Given the description of an element on the screen output the (x, y) to click on. 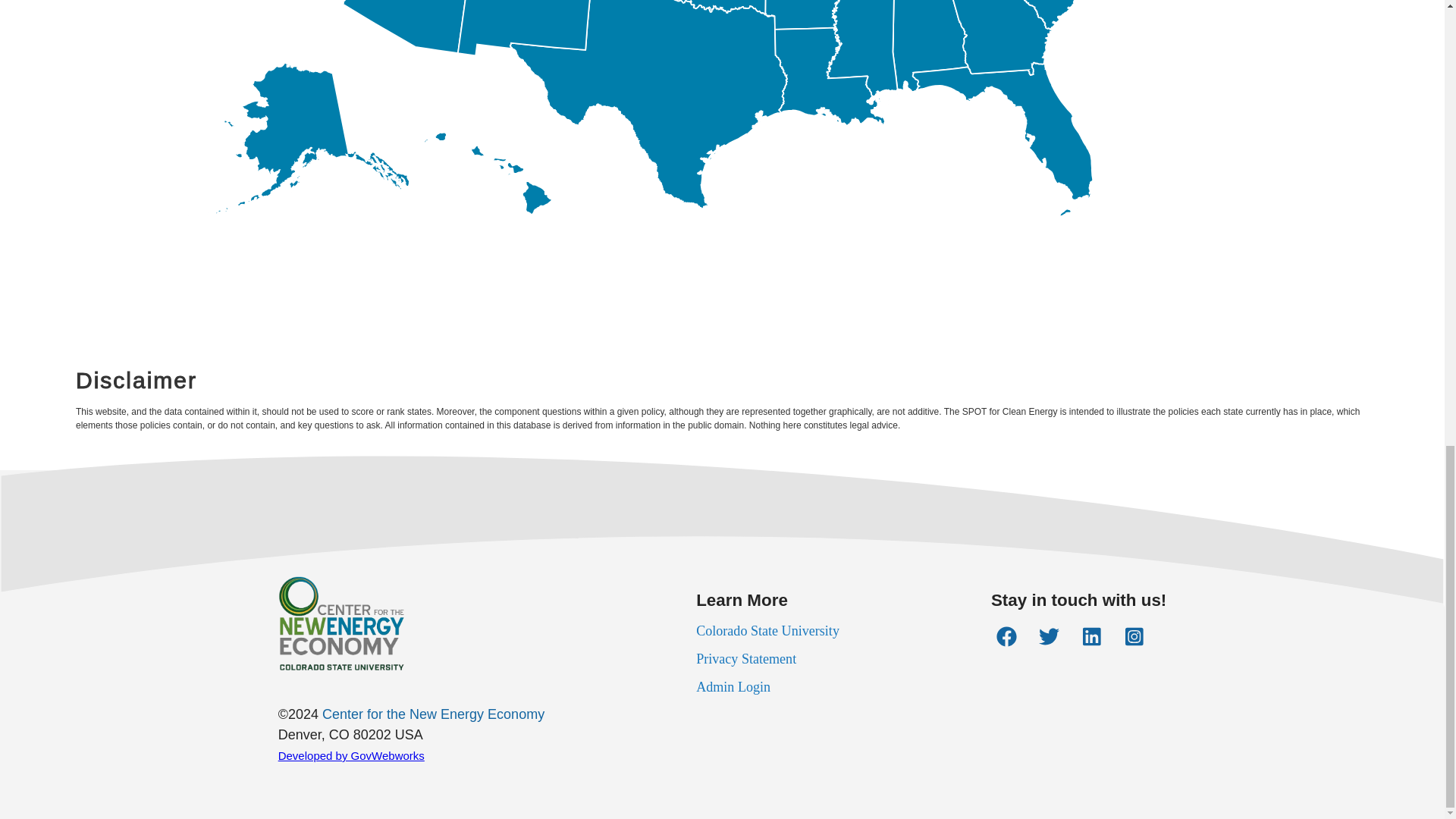
Facebook (1005, 636)
Twitter (1049, 636)
